Given the description of an element on the screen output the (x, y) to click on. 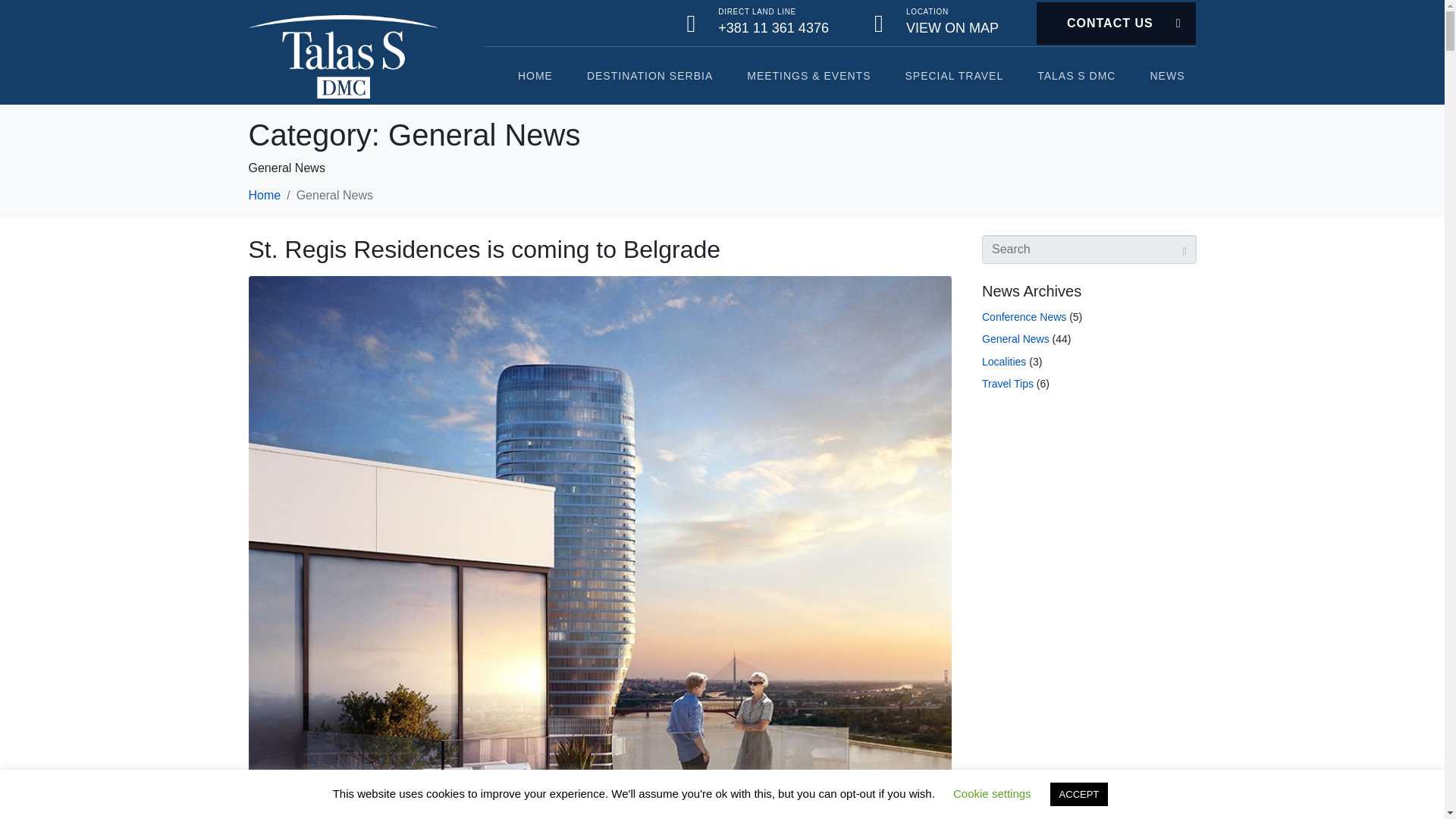
NEWS (1166, 75)
Incoming Agency (953, 75)
HOME (535, 75)
MICE Provider in Serbia (808, 75)
Serbia, Europe (649, 75)
LOCATION (927, 11)
DIRECT LAND LINE (756, 11)
DESTINATION SERBIA (649, 75)
CONTACT US (1116, 22)
News (1166, 75)
